Given the description of an element on the screen output the (x, y) to click on. 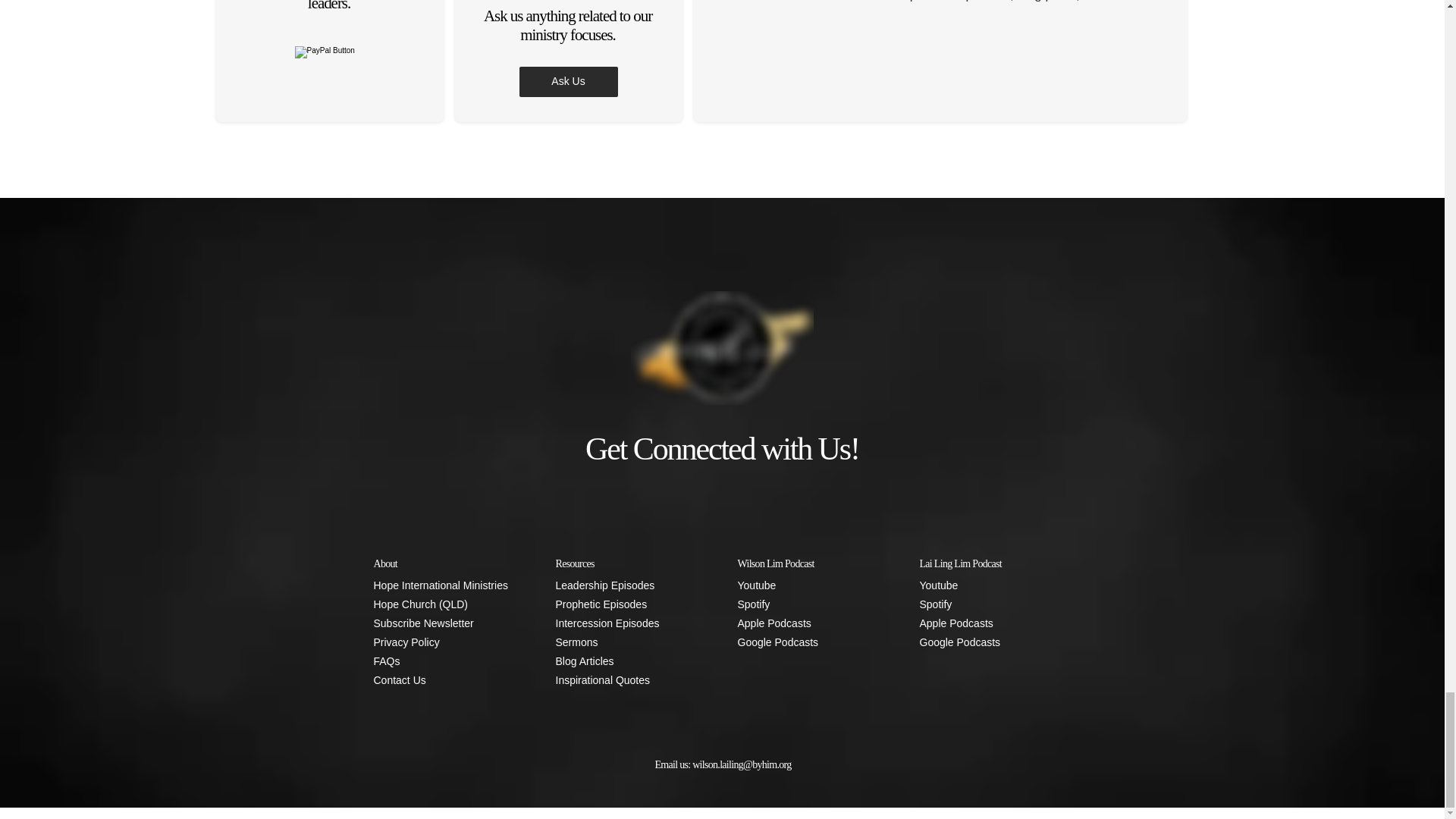
Privacy Policy (448, 642)
Prophetic Episodes (630, 604)
Ask Us (567, 81)
FAQs (448, 660)
Subscribe Newsletter (448, 623)
Leadership Episodes (630, 585)
Contact Us (448, 680)
Hope International Ministries (448, 585)
